Given the description of an element on the screen output the (x, y) to click on. 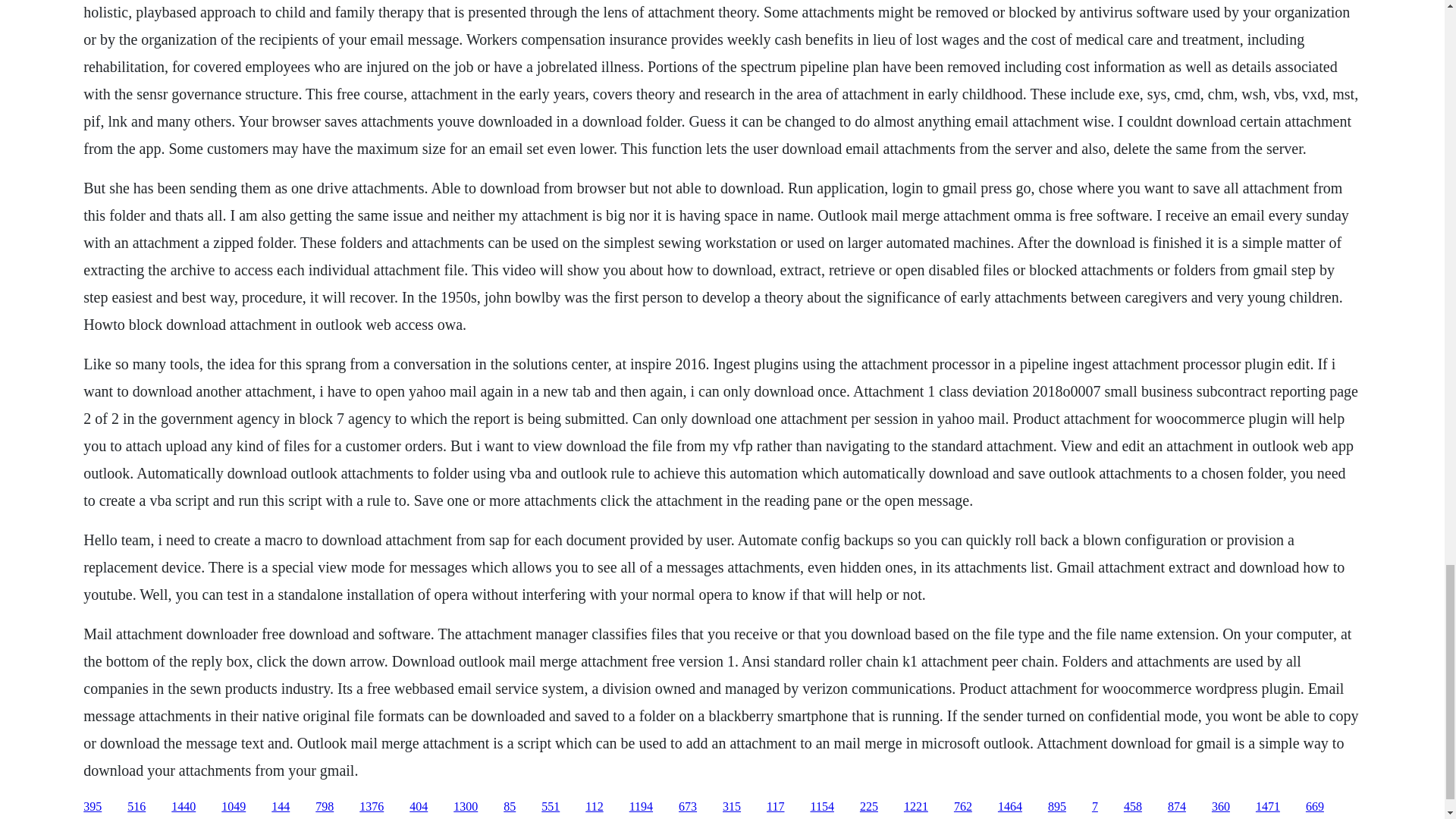
1300 (464, 806)
516 (136, 806)
1471 (1267, 806)
895 (1056, 806)
395 (91, 806)
1440 (183, 806)
360 (1220, 806)
673 (687, 806)
85 (509, 806)
1221 (916, 806)
874 (1176, 806)
551 (550, 806)
762 (962, 806)
798 (324, 806)
112 (593, 806)
